Given the description of an element on the screen output the (x, y) to click on. 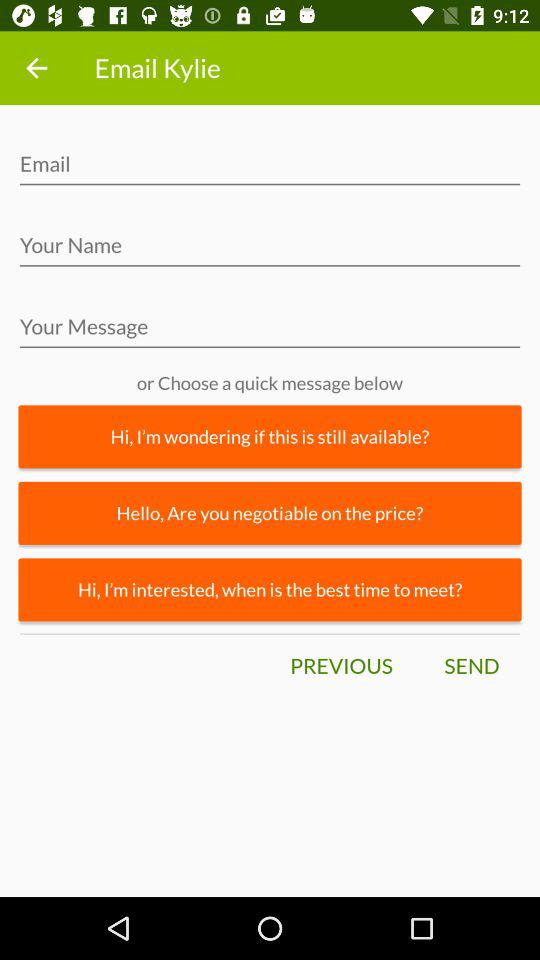
launch the item next to previous icon (471, 666)
